Given the description of an element on the screen output the (x, y) to click on. 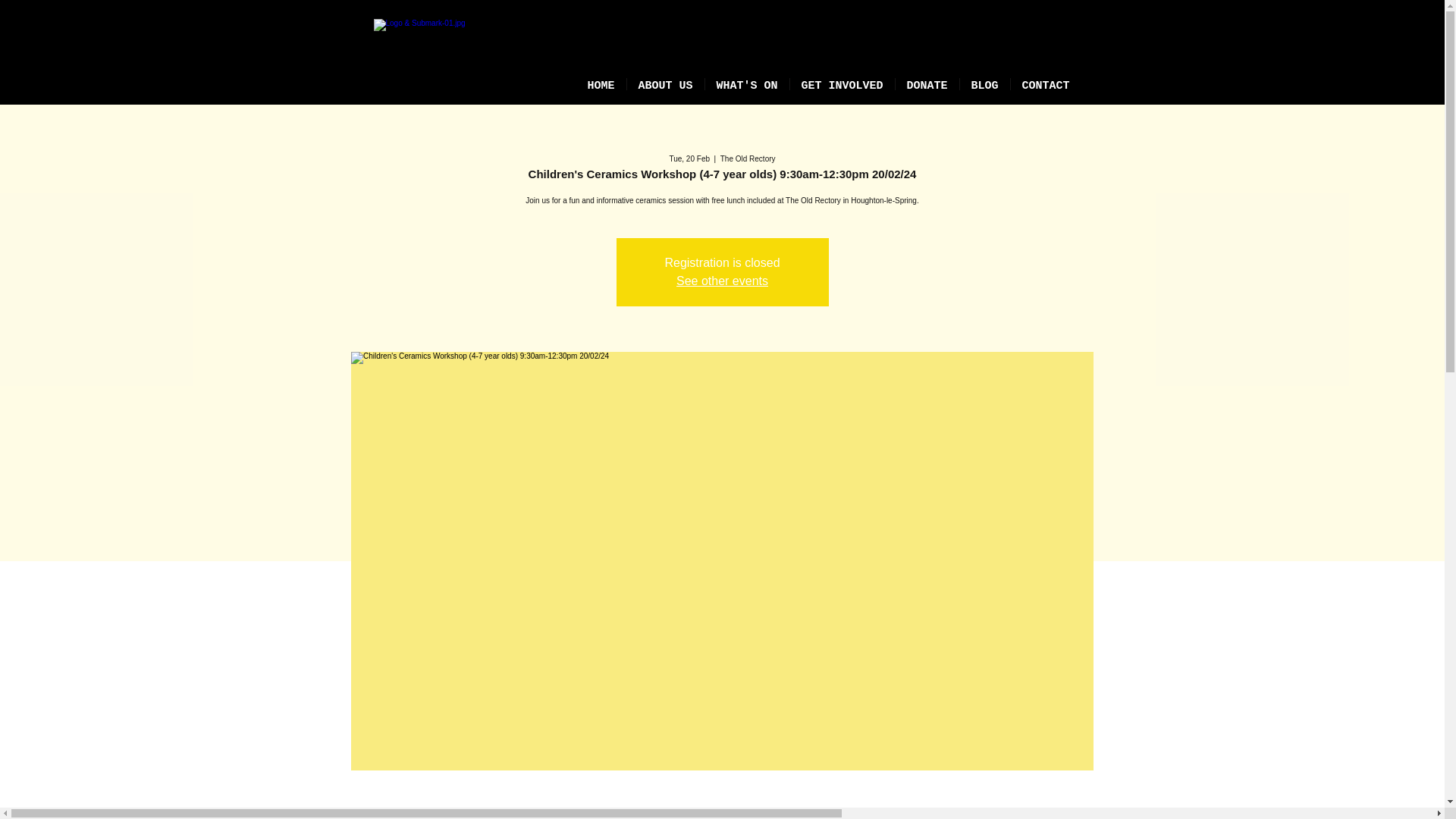
CONTACT (1045, 83)
See other events (722, 280)
DONATE (926, 83)
HOME (601, 83)
GET INVOLVED (842, 83)
BLOG (984, 83)
ABOUT US (664, 83)
WHAT'S ON (746, 83)
